Given the description of an element on the screen output the (x, y) to click on. 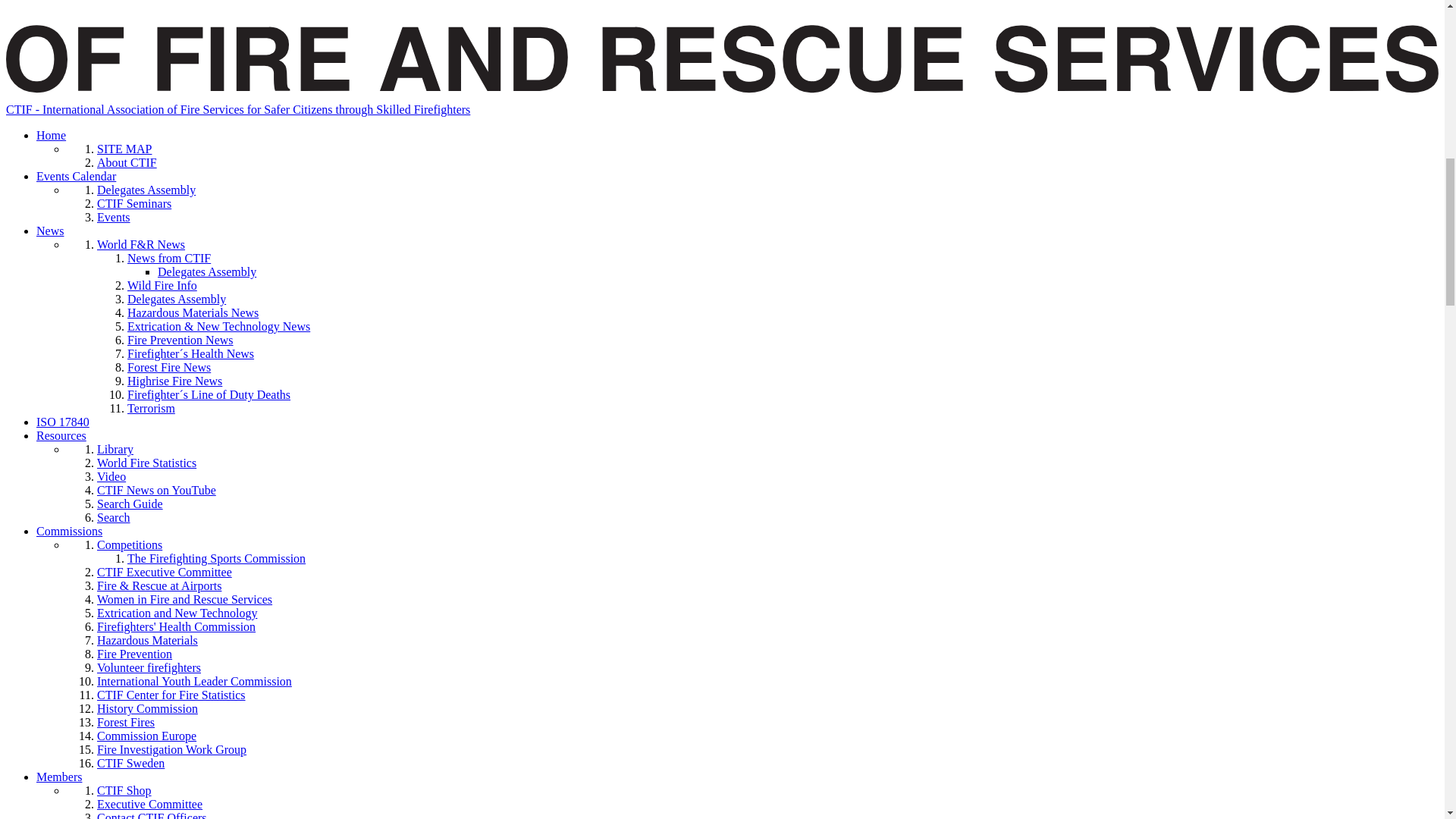
The National Committee CTIF Sweden (130, 762)
News from CTIF (169, 257)
About CTIF (127, 162)
Terrorism (151, 408)
Home (50, 134)
Events (114, 216)
News (50, 230)
Wild Fire Info (162, 285)
CTIF Seminars (134, 203)
